Given the description of an element on the screen output the (x, y) to click on. 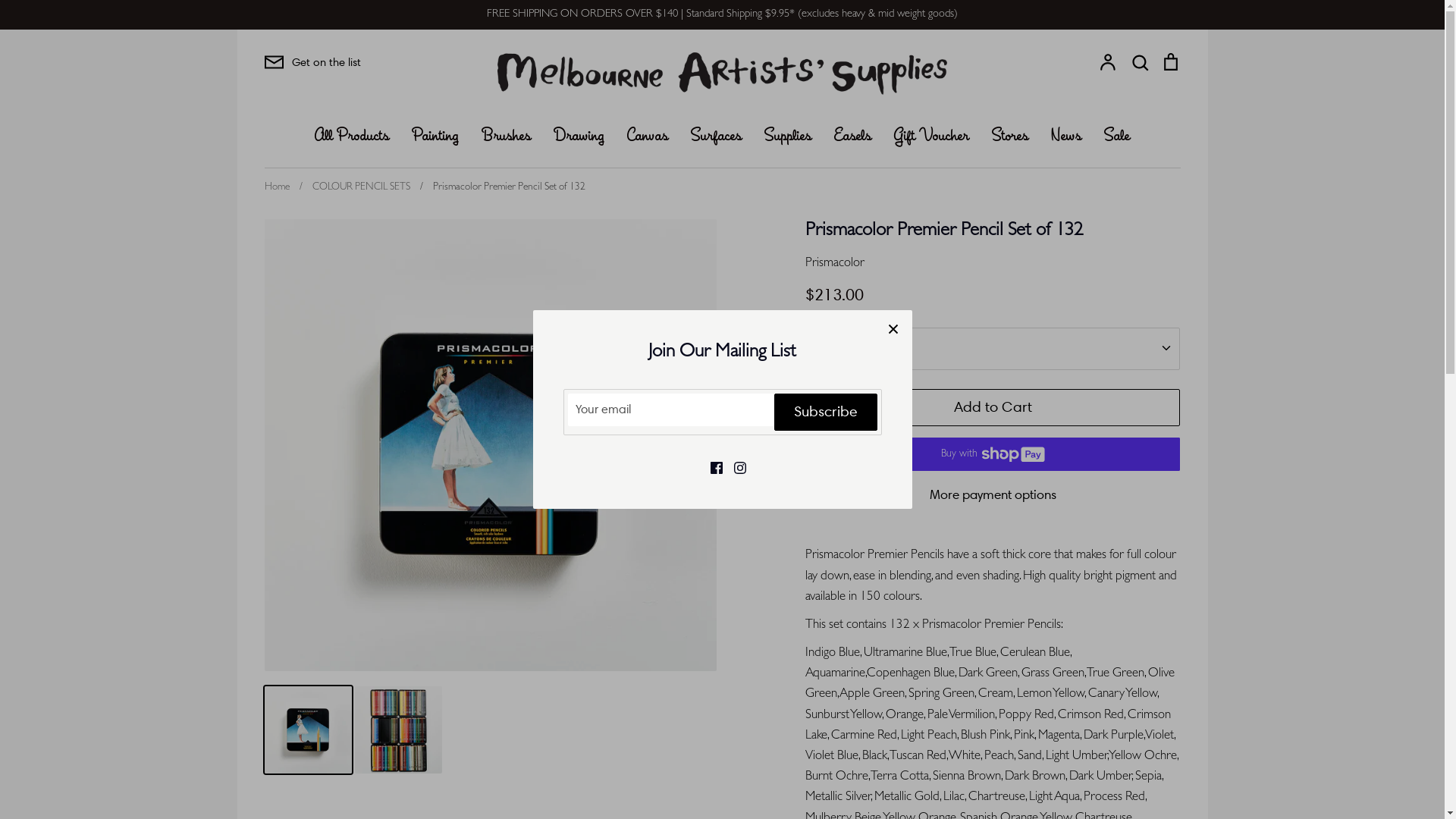
Cart Element type: text (1169, 62)
/ COLOUR PENCIL SETS Element type: text (350, 187)
Get on the list Element type: text (311, 62)
Brushes Element type: text (505, 136)
Easels Element type: text (852, 136)
Sale Element type: text (1116, 136)
Canvas Element type: text (647, 136)
All Products Element type: text (351, 136)
Subscribe Element type: text (824, 411)
Prismacolor Element type: text (834, 263)
Supplies Element type: text (787, 136)
Home Element type: text (275, 187)
News Element type: text (1066, 136)
Add to Cart Element type: text (992, 407)
Stores Element type: text (1009, 136)
/ Prismacolor Premier Pencil Set of 132 Element type: text (498, 187)
Drawing Element type: text (578, 136)
More payment options Element type: text (992, 494)
Surfaces Element type: text (715, 136)
Painting Element type: text (434, 136)
Search Element type: text (1139, 62)
Gift Voucher Element type: text (931, 136)
Account Element type: text (1107, 62)
